Given the description of an element on the screen output the (x, y) to click on. 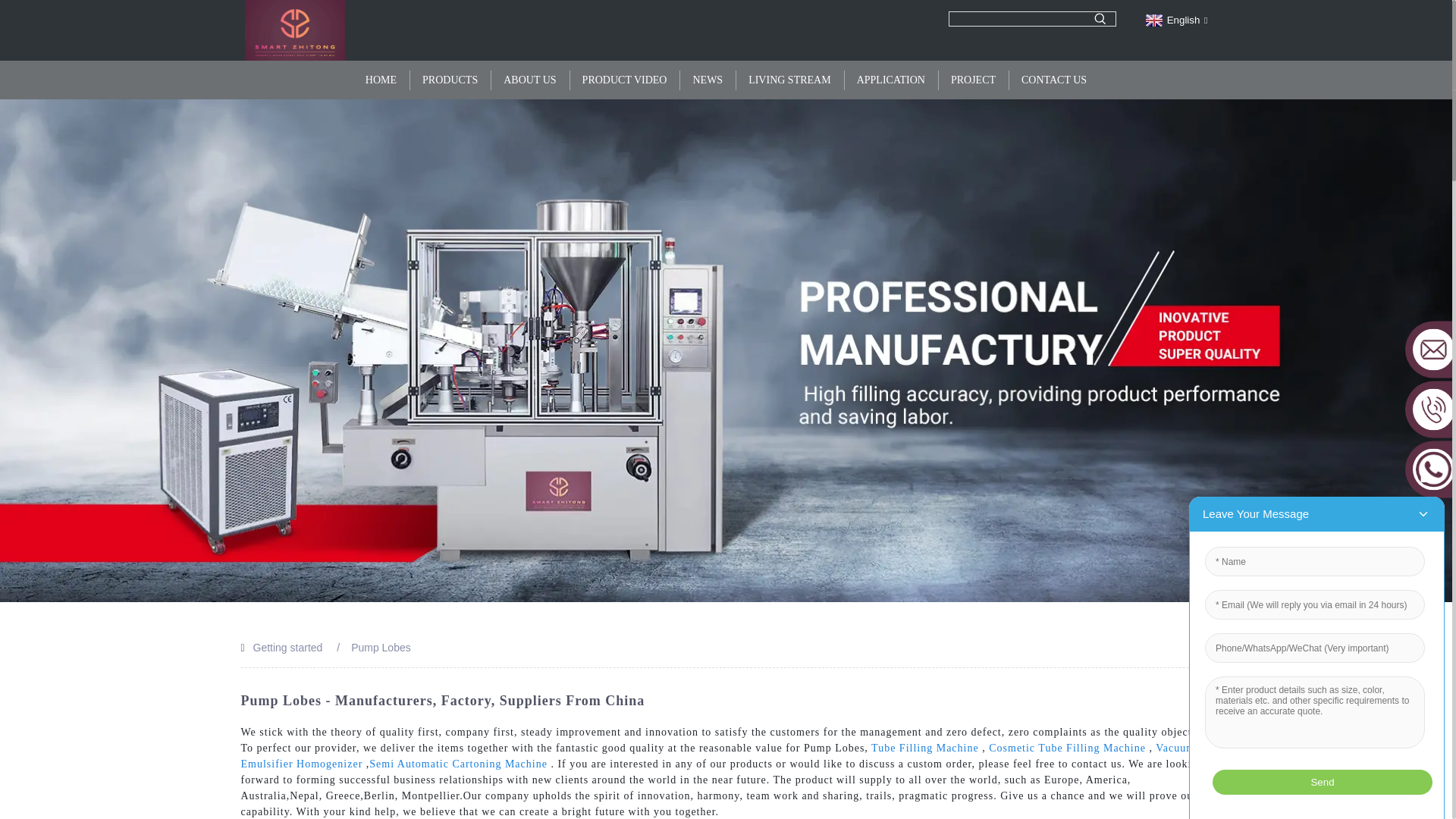
Cosmetic Tube Filling Machine (1066, 747)
PRODUCT VIDEO (624, 80)
NEWS (707, 80)
APPLICATION (890, 80)
LIVING STREAM (789, 80)
PRODUCTS (449, 80)
English (1174, 19)
PROJECT (973, 80)
Vacuum Emulsifier Homogenizer (718, 755)
ABOUT US (529, 80)
HOME (380, 80)
Tube Filling Machine (924, 747)
Semi Automatic Cartoning Machine (458, 763)
